Given the description of an element on the screen output the (x, y) to click on. 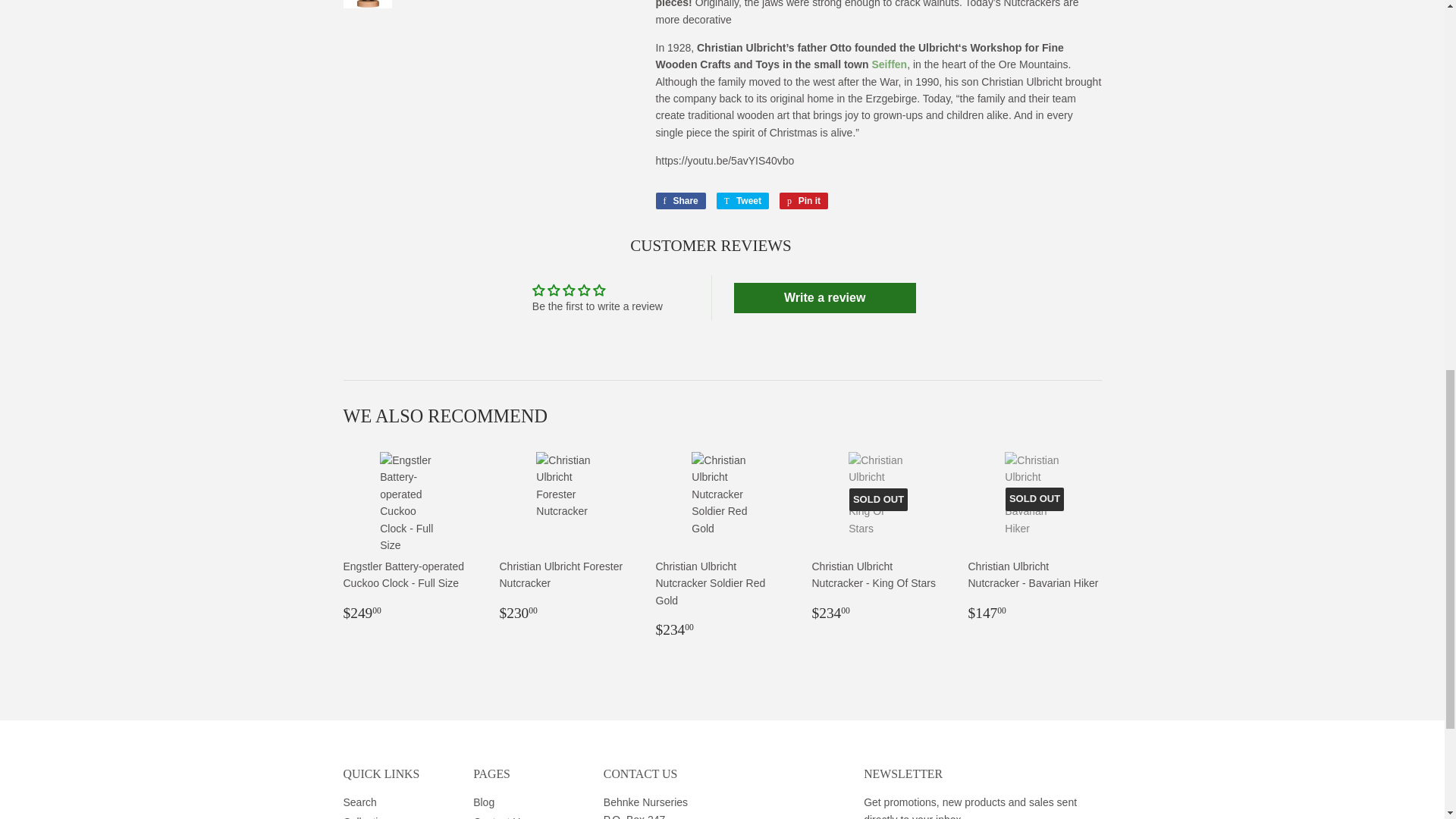
Tweet on Twitter (742, 200)
Share on Facebook (679, 200)
Pin on Pinterest (803, 200)
